Given the description of an element on the screen output the (x, y) to click on. 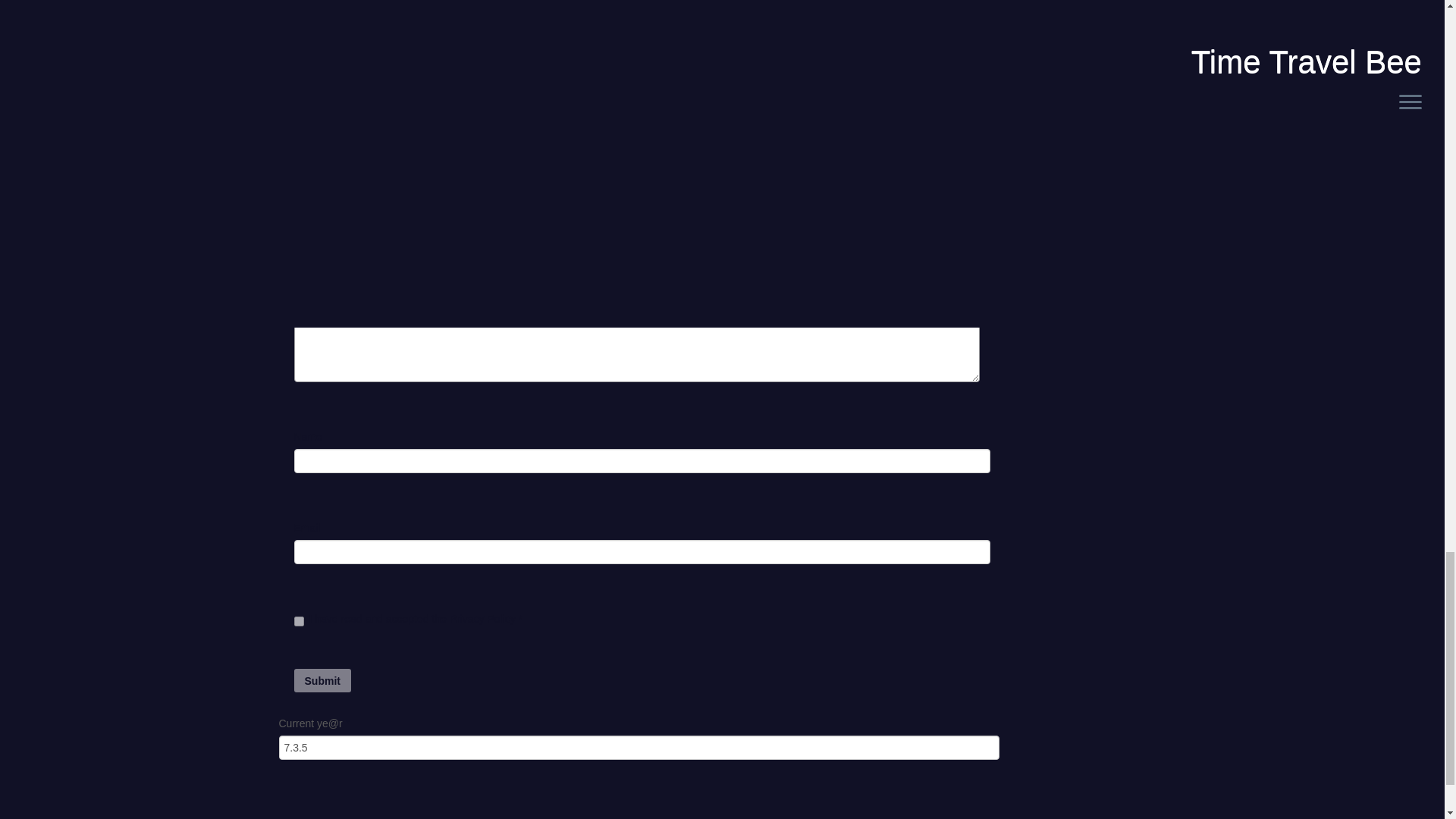
7.3.5 (638, 747)
Privacy Policy (483, 618)
Submit (322, 680)
Submit (322, 680)
policy-key (299, 621)
